Given the description of an element on the screen output the (x, y) to click on. 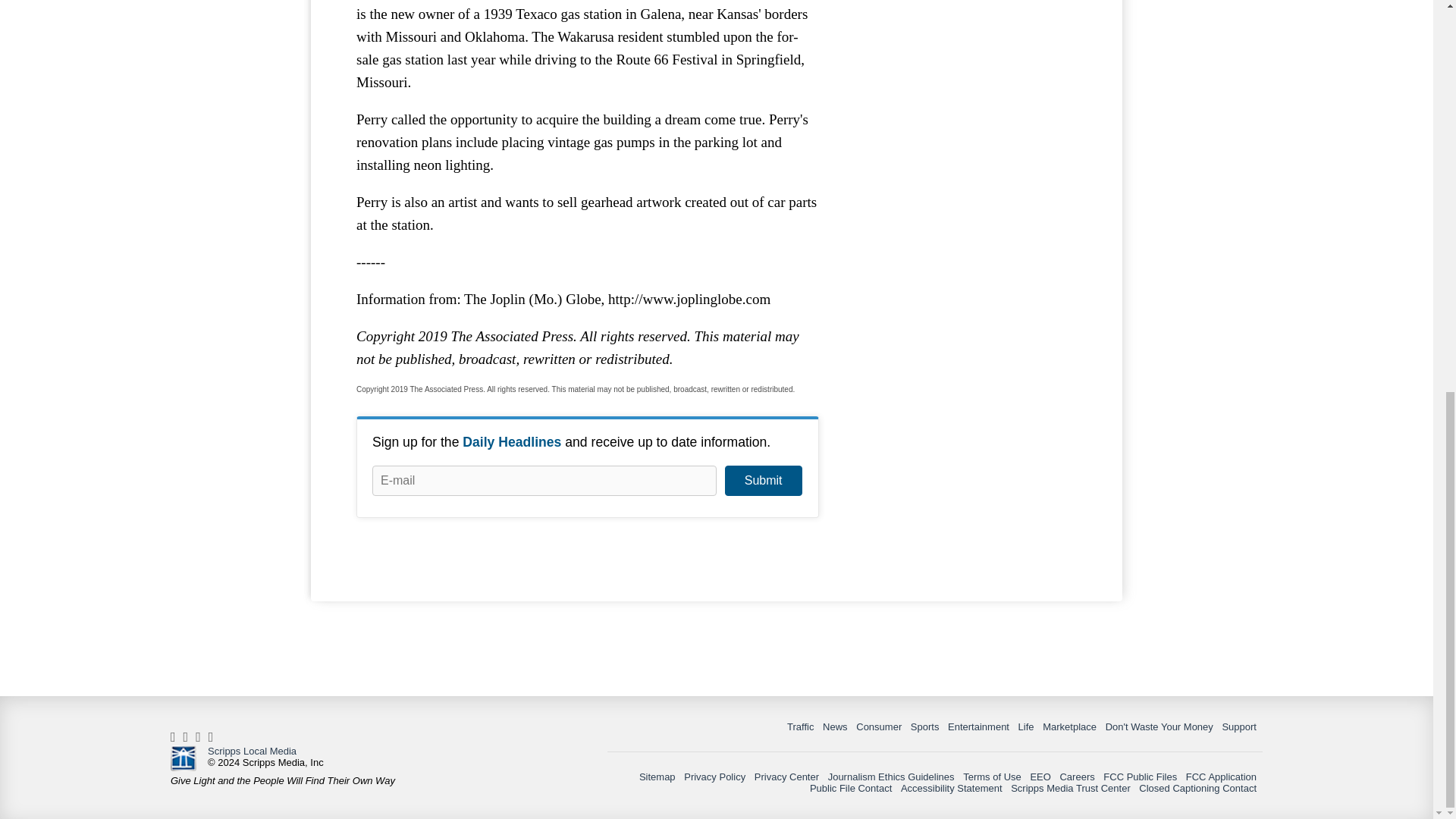
Submit (763, 481)
